Given the description of an element on the screen output the (x, y) to click on. 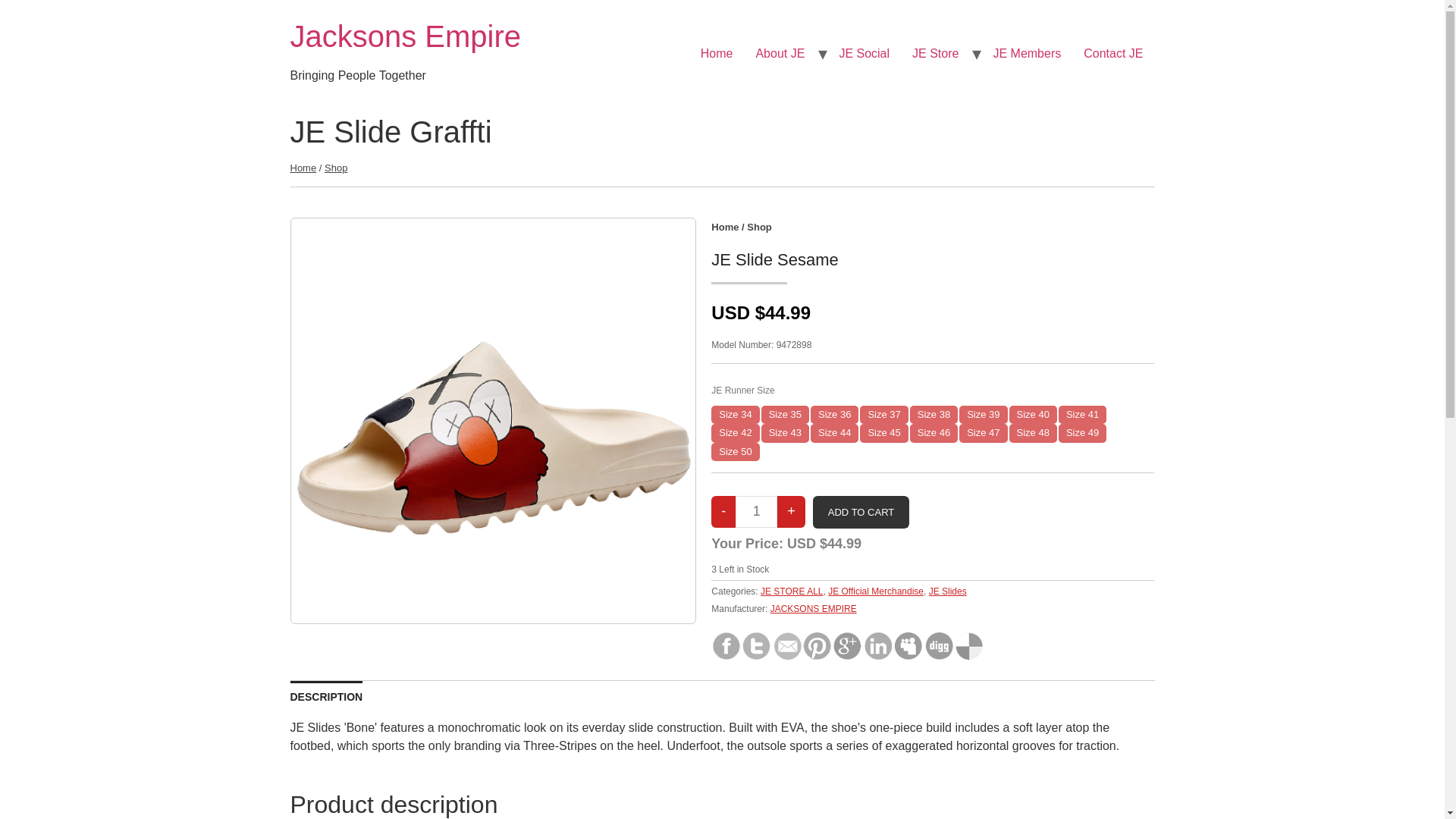
Home (302, 167)
1 (756, 511)
Size 49 (1082, 433)
Size 36 (834, 414)
Size 38 (934, 414)
Home (405, 36)
Size 46 (934, 433)
Home (724, 226)
Size 47 (983, 433)
Shop (335, 167)
Home (716, 53)
Contact JE (1112, 53)
Size 34 (734, 414)
Size 50 (734, 452)
Size 45 (883, 433)
